Given the description of an element on the screen output the (x, y) to click on. 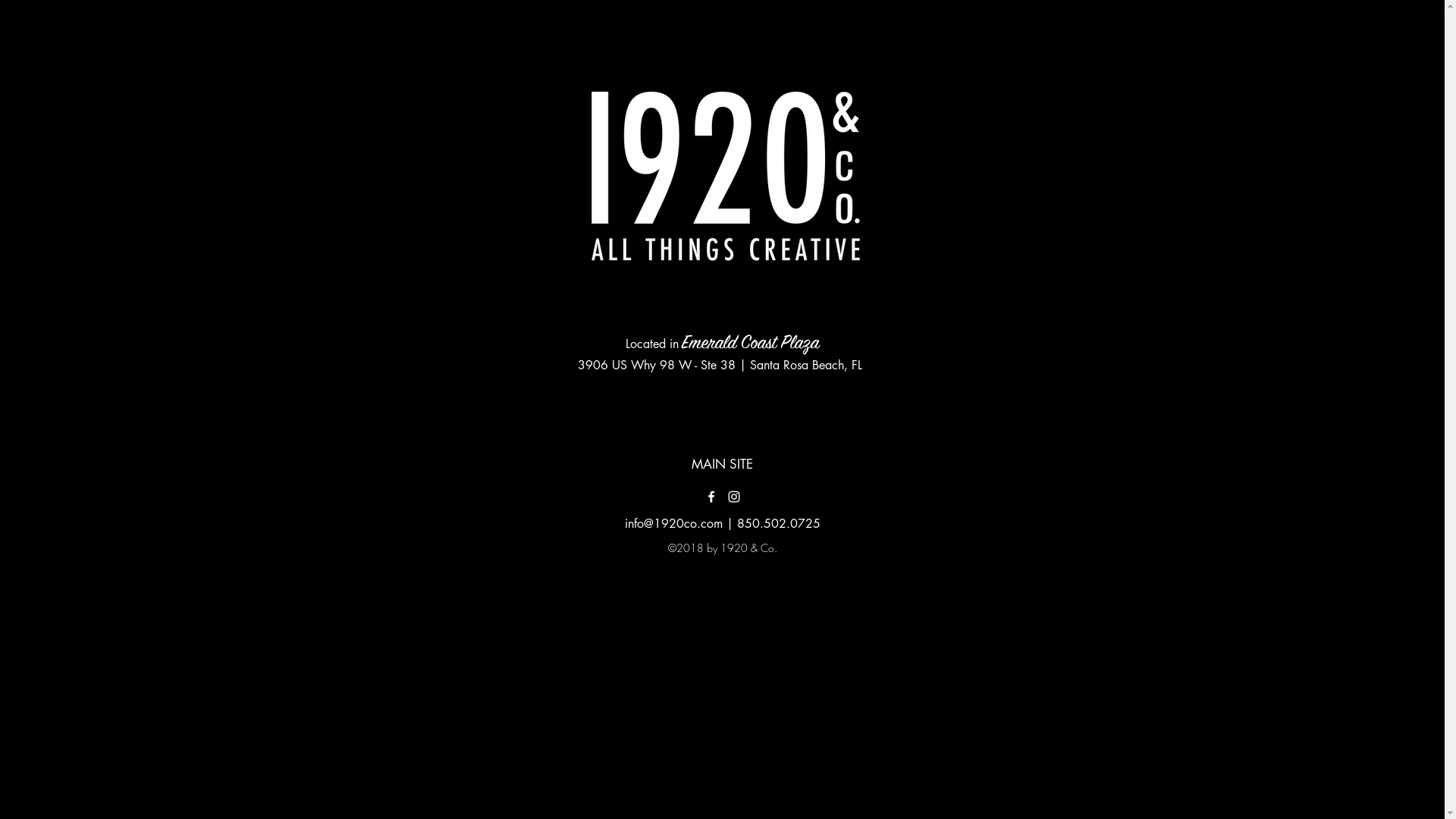
MAIN SITE Element type: text (721, 464)
info@1920co.com Element type: text (673, 523)
